Given the description of an element on the screen output the (x, y) to click on. 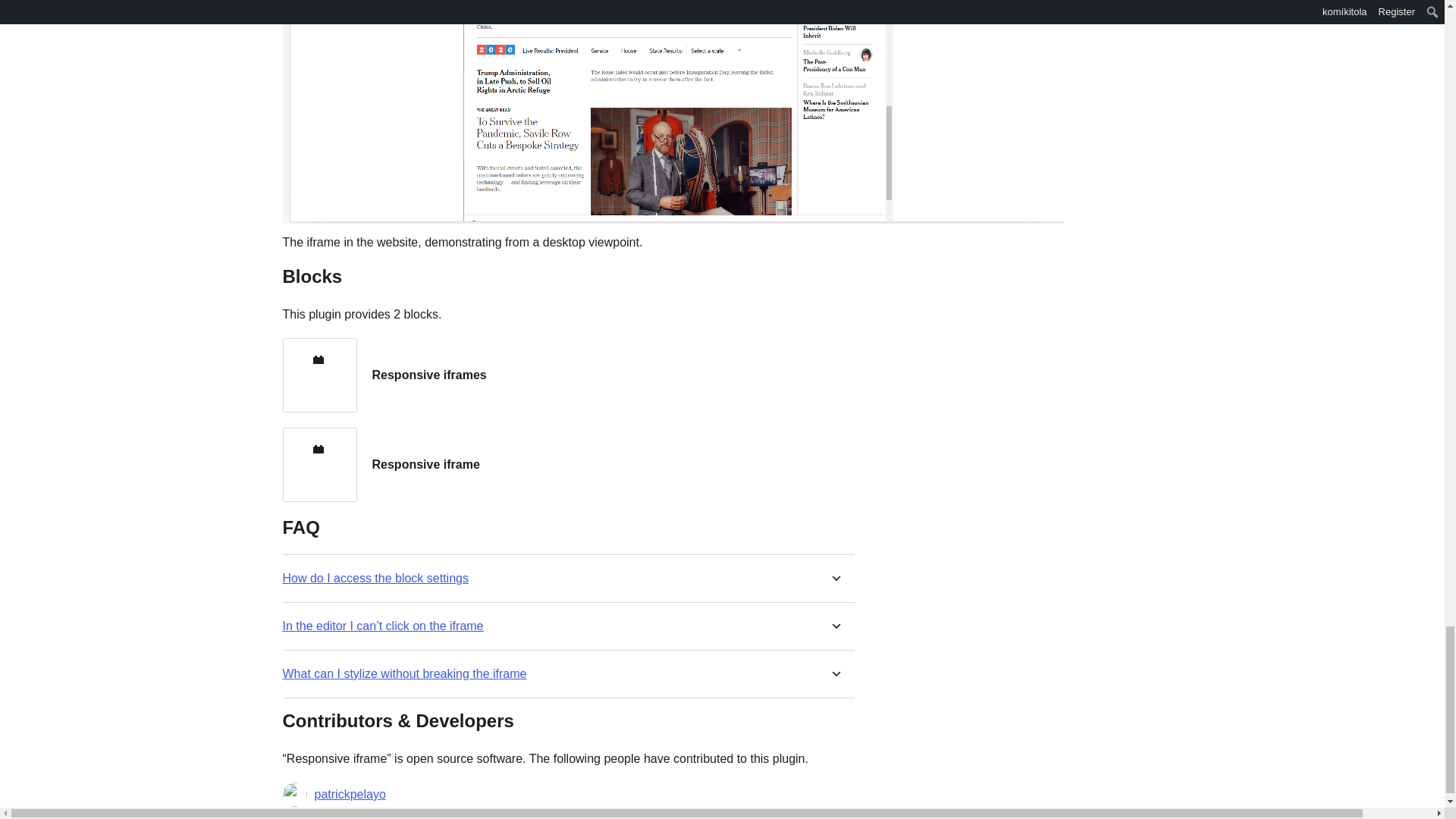
How do I access the block settings (374, 577)
What can I stylize without breaking the iframe (403, 673)
